Given the description of an element on the screen output the (x, y) to click on. 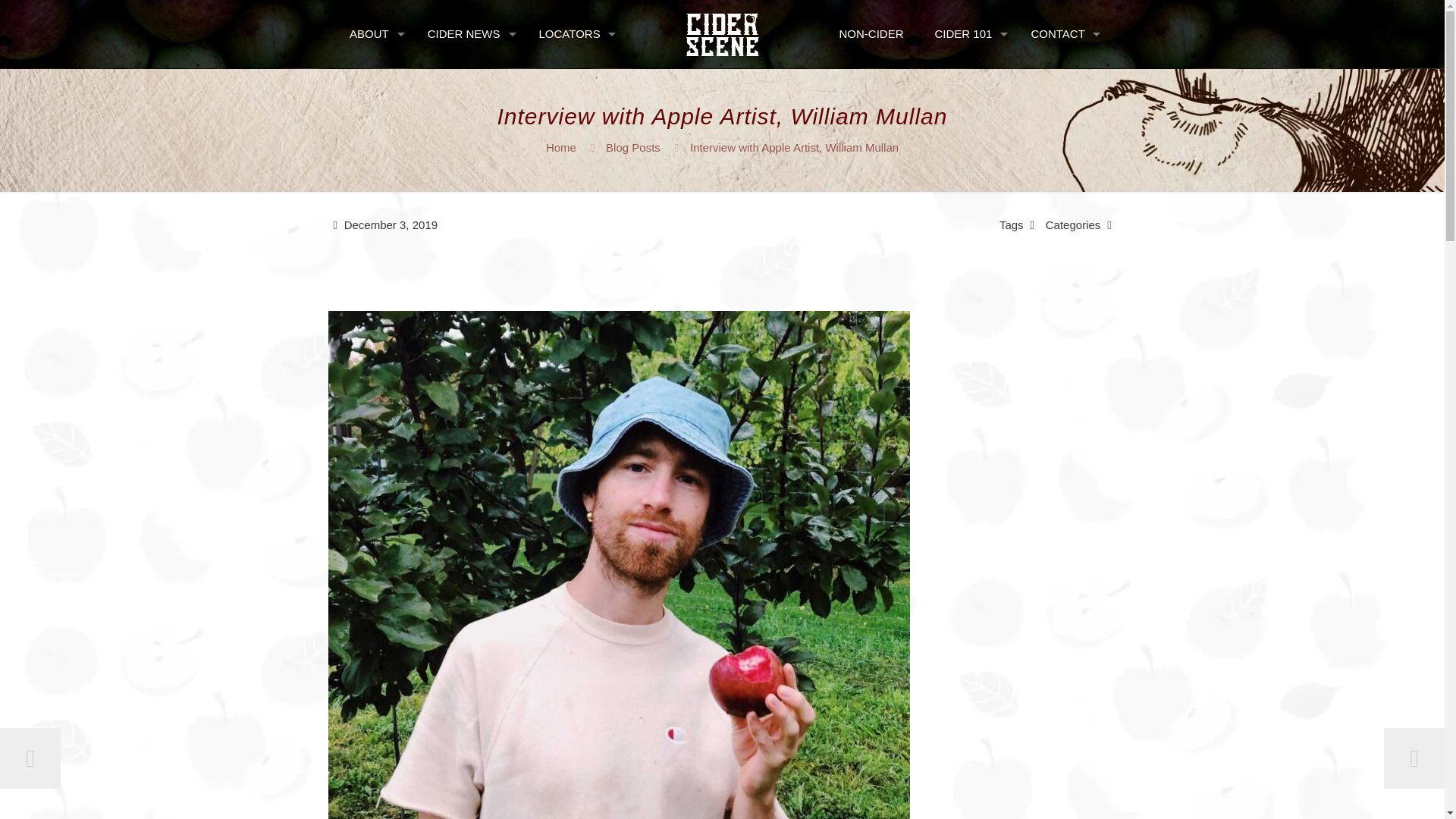
Home (561, 146)
ABOUT (373, 33)
NON-CIDER (872, 33)
CIDER 101 (968, 33)
CONTACT (1060, 33)
LOCATORS (573, 33)
CIDER NEWS (468, 33)
Blog Posts (633, 146)
